Given the description of an element on the screen output the (x, y) to click on. 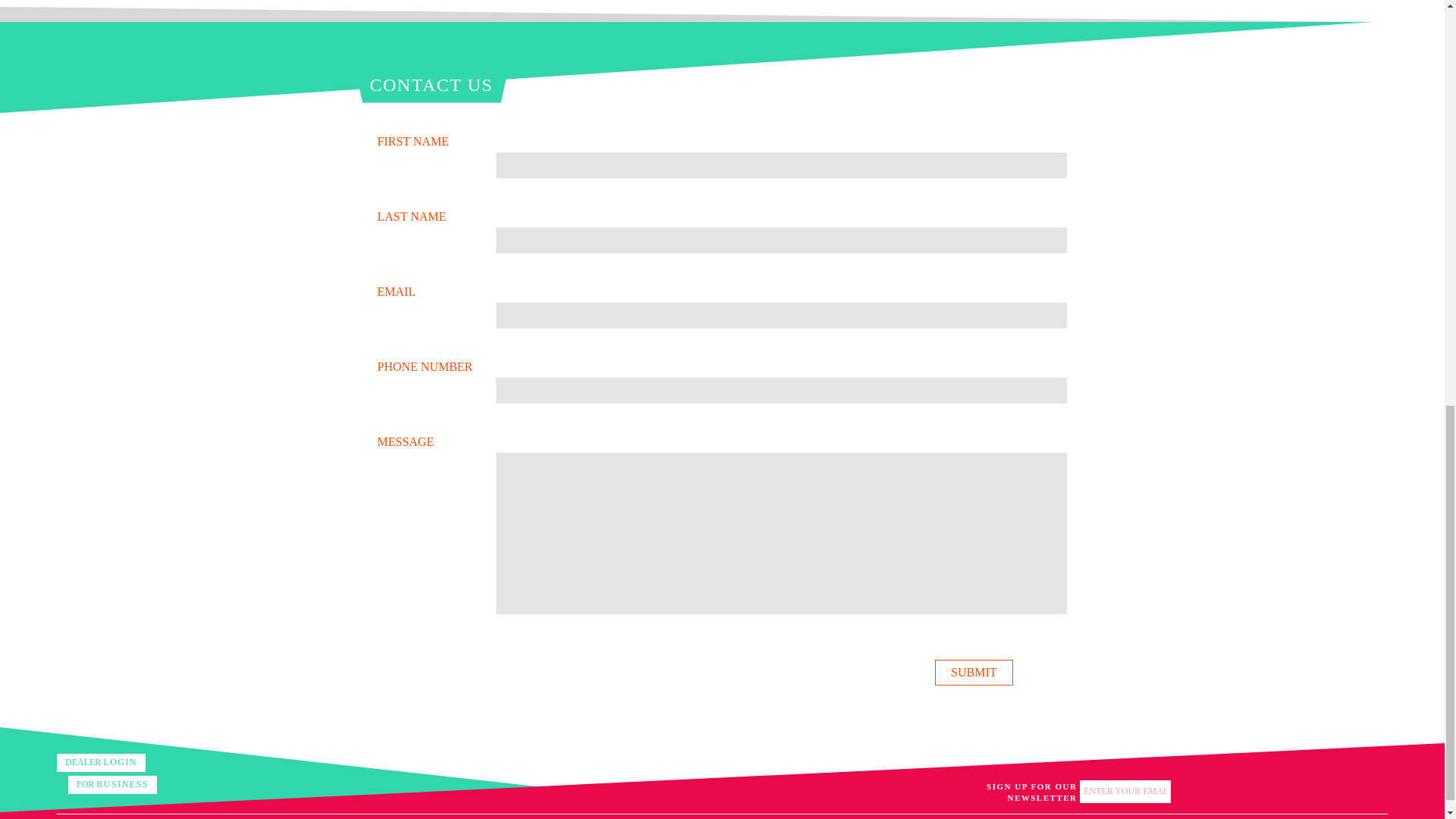
FOR BUSINESS (112, 784)
submit (972, 672)
submit (972, 672)
DEALER LOGIN (100, 762)
